Given the description of an element on the screen output the (x, y) to click on. 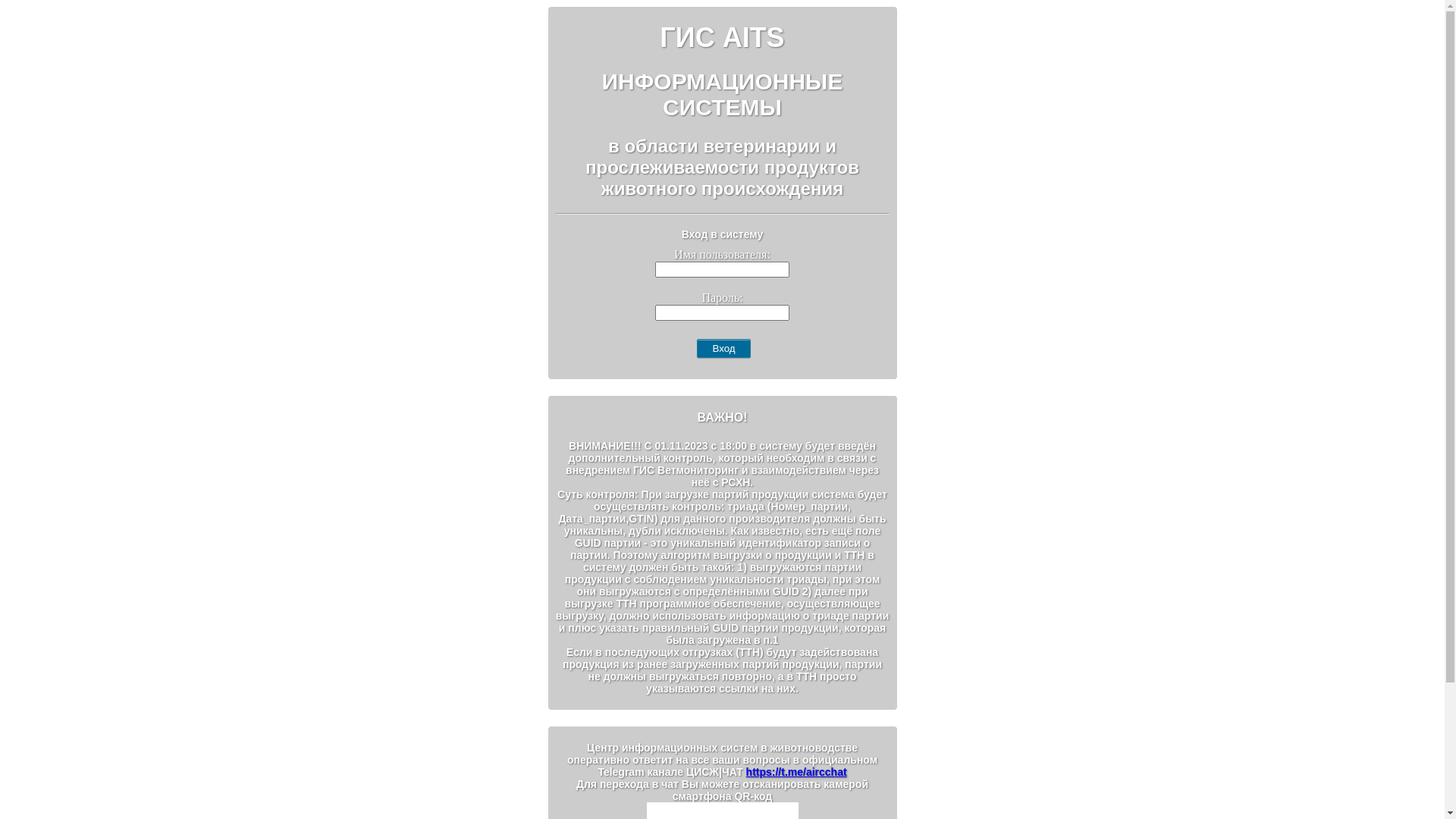
https://t.me/aircchat Element type: text (796, 771)
